Given the description of an element on the screen output the (x, y) to click on. 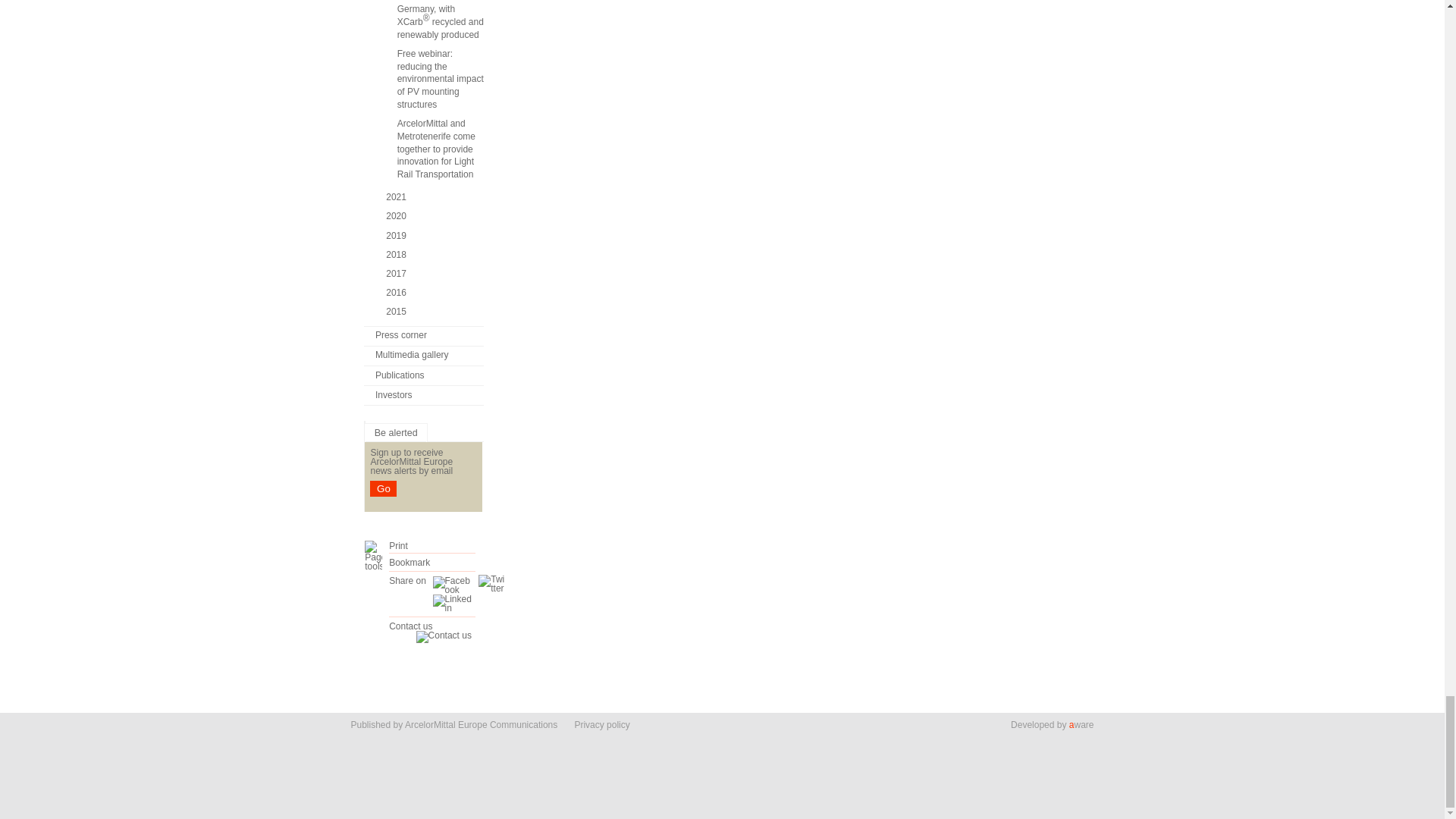
Go (382, 488)
